Given the description of an element on the screen output the (x, y) to click on. 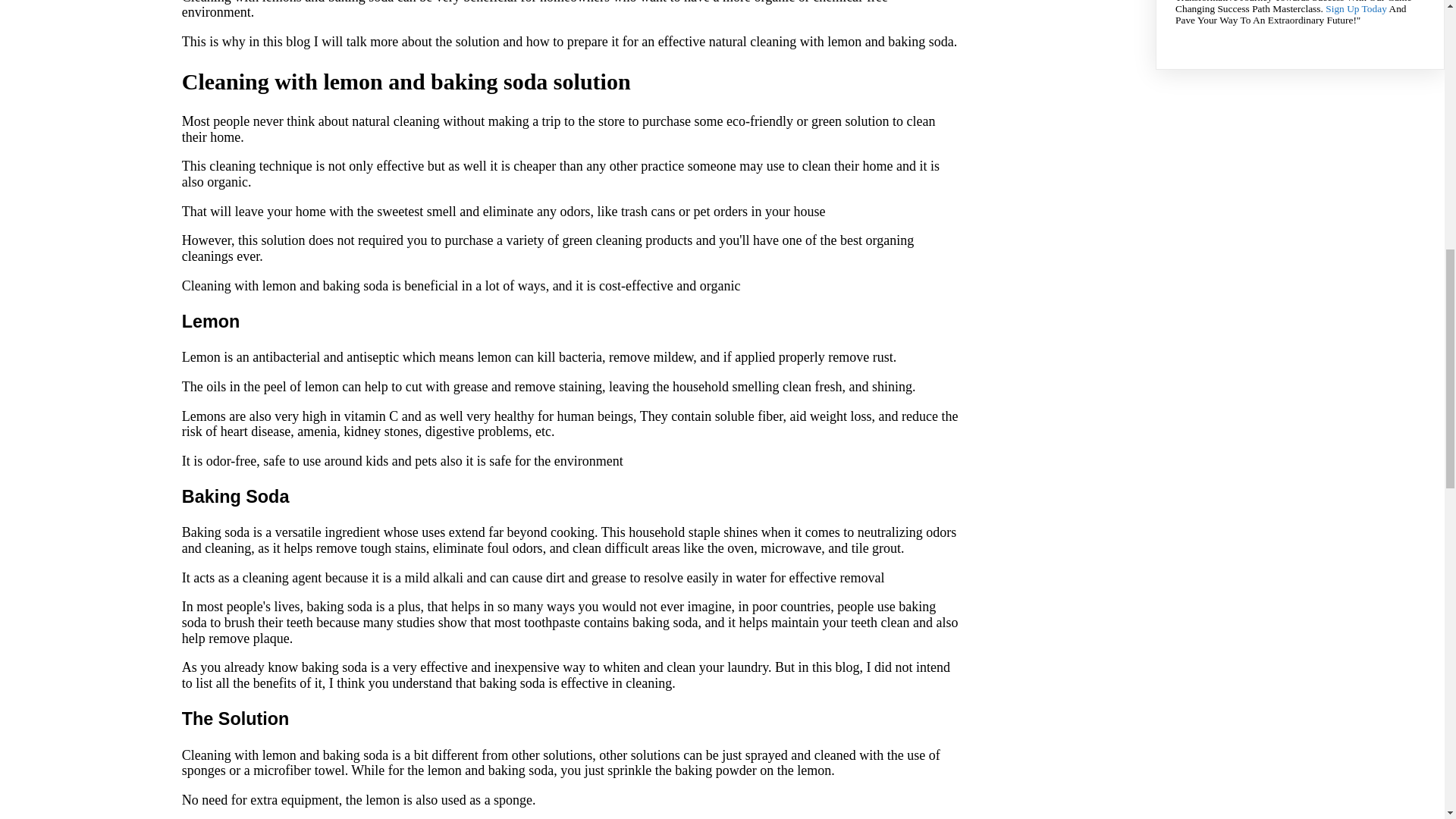
Sign Up Today (1355, 8)
